Given the description of an element on the screen output the (x, y) to click on. 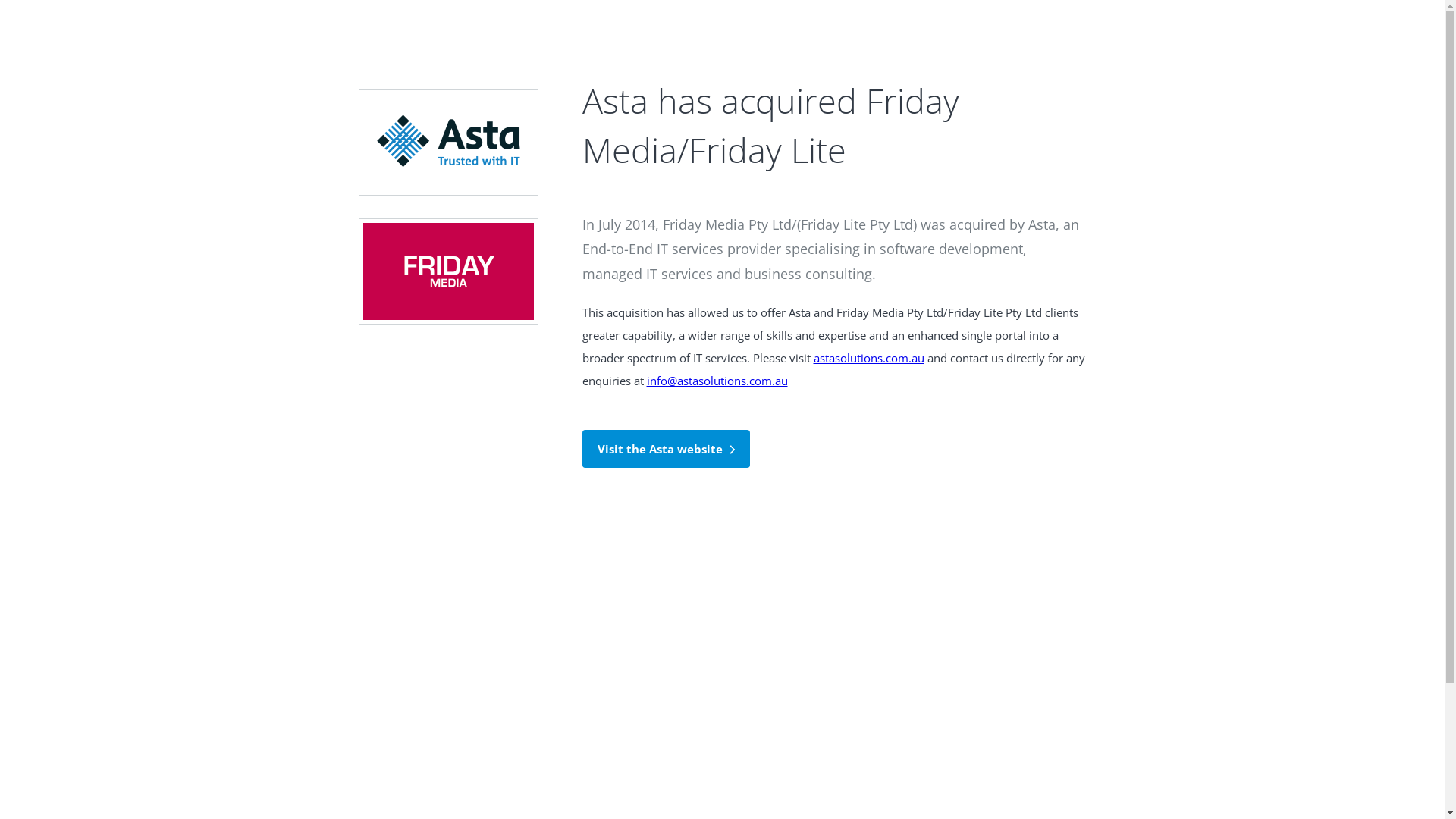
astasolutions.com.au Element type: text (867, 357)
info@astasolutions.com.au Element type: text (716, 380)
Visit the Asta website Element type: text (665, 448)
